Given the description of an element on the screen output the (x, y) to click on. 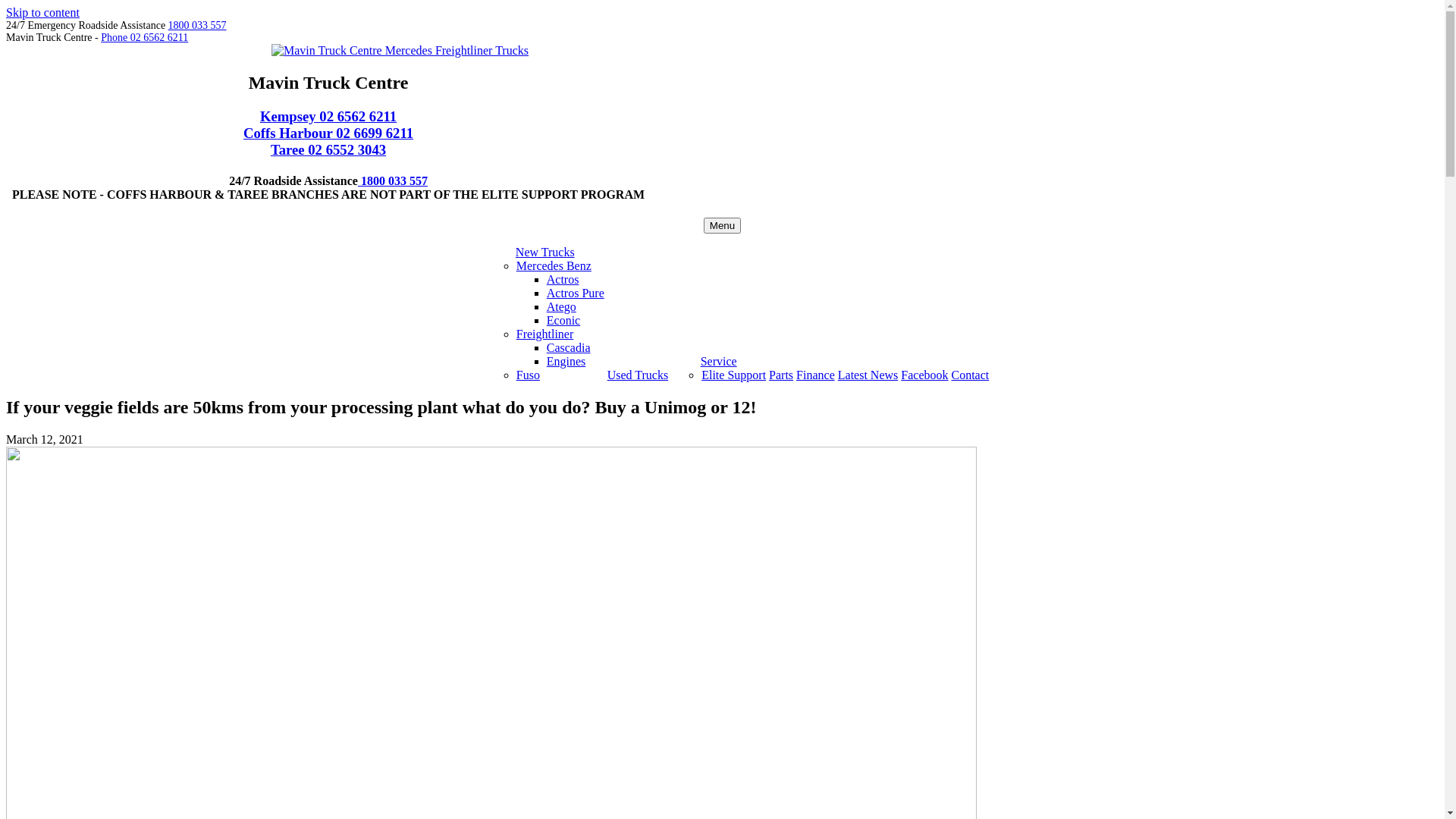
Phone 02 6562 6211 Element type: text (144, 37)
New Trucks Element type: text (544, 251)
Elite Support Element type: text (733, 374)
Latest News Element type: text (867, 374)
Atego Element type: text (561, 306)
Coffs Harbour 02 6699 6211 Element type: text (328, 133)
1800 033 557 Element type: text (392, 180)
Parts Element type: text (780, 374)
Menu Element type: text (721, 225)
Service Element type: text (718, 360)
Mercedes Benz Element type: text (553, 265)
Actros Pure Element type: text (575, 292)
Facebook Element type: text (923, 374)
Fuso Element type: text (527, 374)
Contact Element type: text (969, 374)
Cascadia Element type: text (568, 347)
Econic Element type: text (563, 319)
Engines Element type: text (566, 360)
Used Trucks Element type: text (637, 374)
1800 033 557 Element type: text (197, 25)
Freightliner Element type: text (545, 333)
Finance Element type: text (815, 374)
Skip to content Element type: text (42, 12)
Actros Element type: text (562, 279)
Kempsey 02 6562 6211 Element type: text (328, 116)
Taree 02 6552 3043 Element type: text (327, 149)
